Given the description of an element on the screen output the (x, y) to click on. 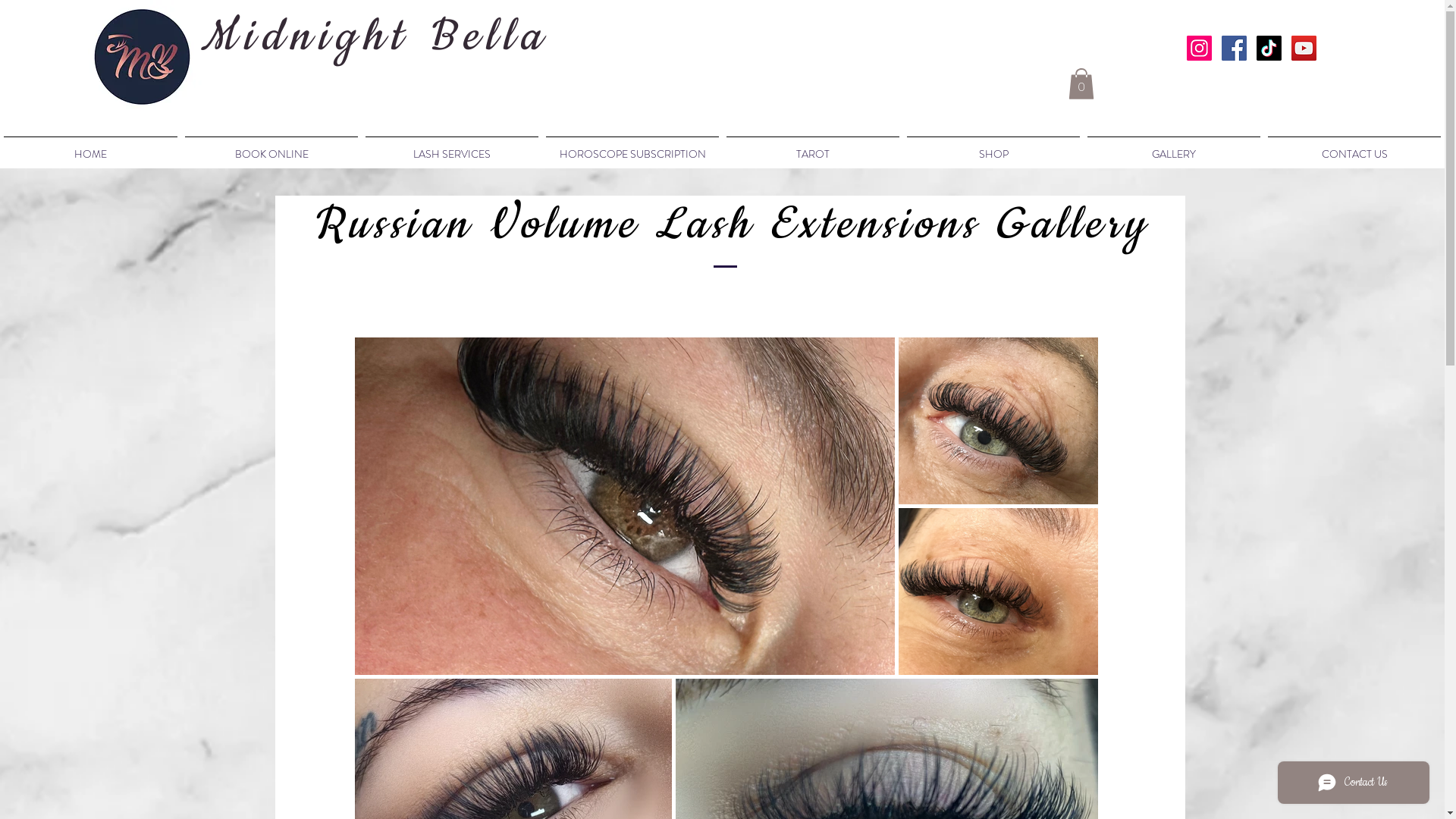
BOOK ONLINE Element type: text (271, 147)
0 Element type: text (1080, 83)
CONTACT US Element type: text (1354, 147)
TAROT Element type: text (812, 147)
HOROSCOPE SUBSCRIPTION Element type: text (632, 147)
SHOP Element type: text (993, 147)
HOME Element type: text (90, 147)
LASH SERVICES Element type: text (451, 147)
